Given the description of an element on the screen output the (x, y) to click on. 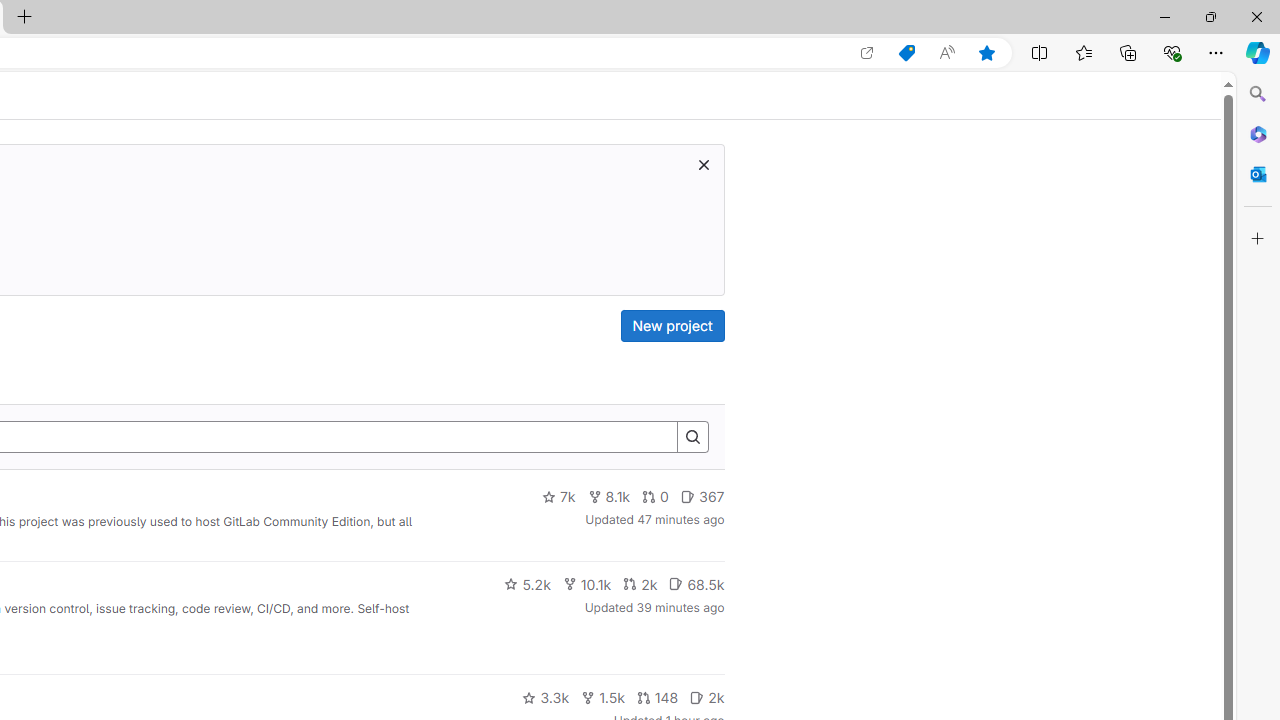
Dismiss trial promotion (703, 164)
